Given the description of an element on the screen output the (x, y) to click on. 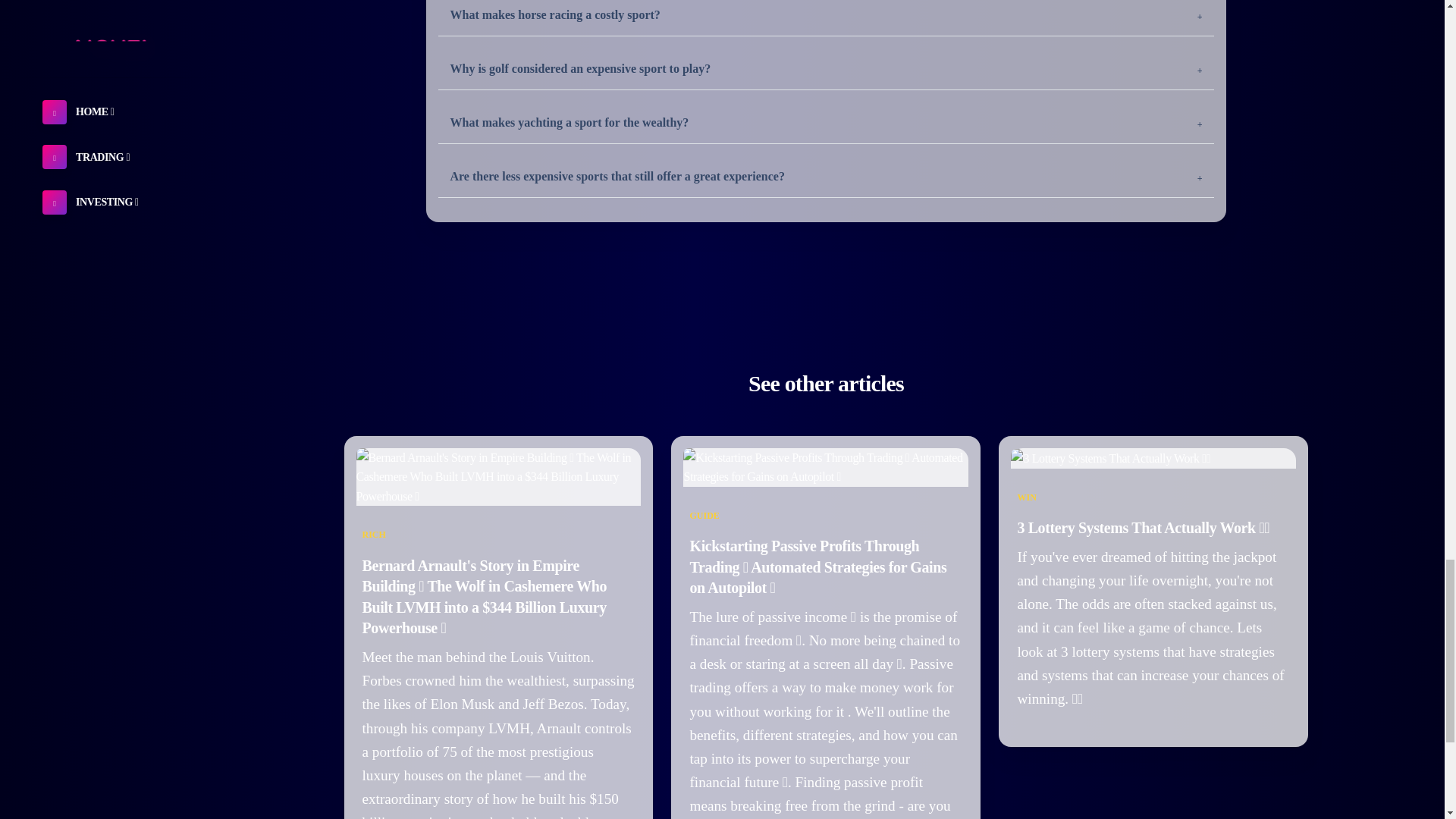
Why is golf considered an expensive sport to play? (826, 69)
What makes yachting a sport for the wealthy? (826, 123)
What makes horse racing a costly sport? (826, 18)
